Given the description of an element on the screen output the (x, y) to click on. 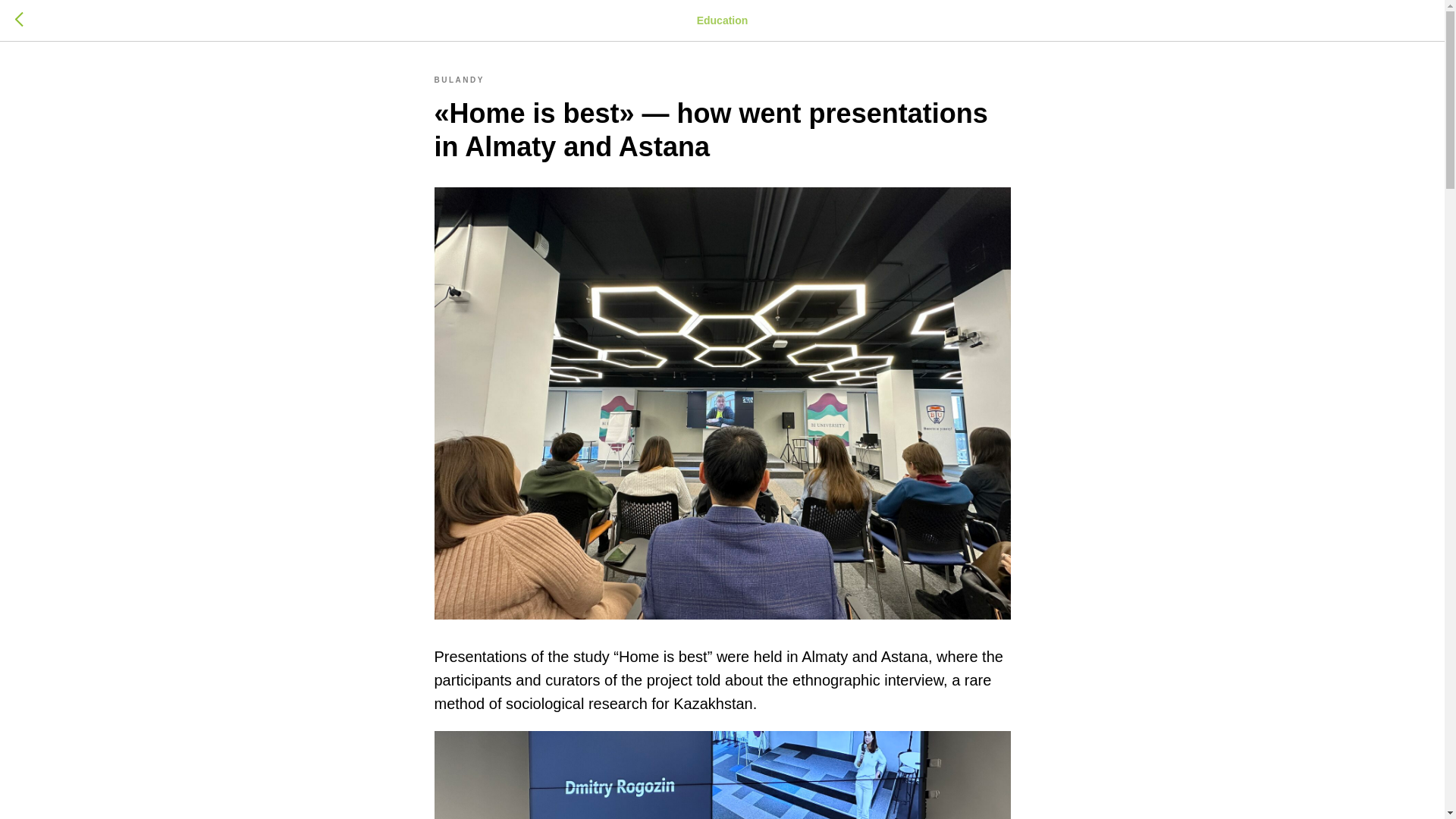
BULANDY (458, 78)
